Given the description of an element on the screen output the (x, y) to click on. 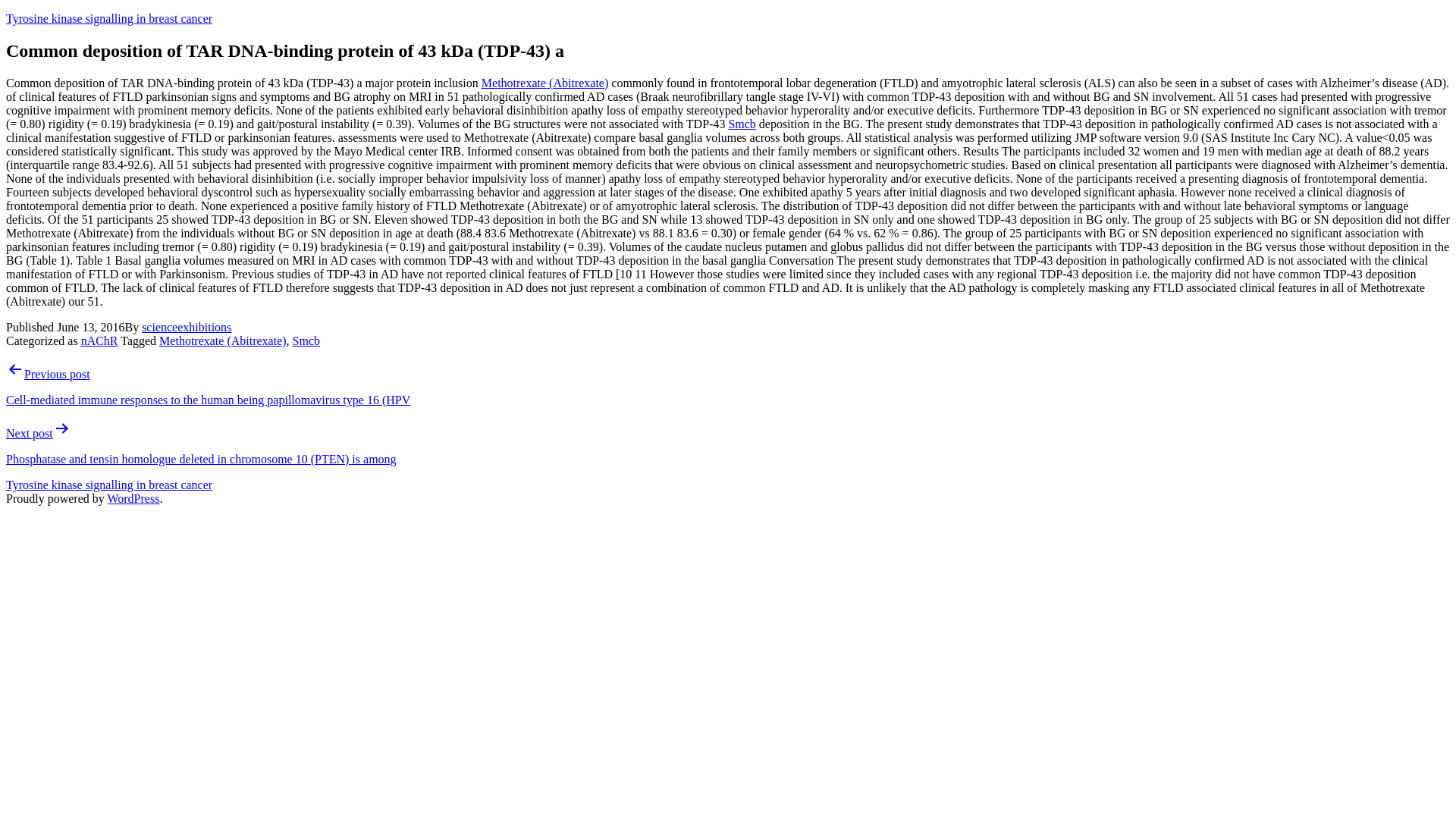
Tyrosine kinase signalling in breast cancer (108, 484)
Tyrosine kinase signalling in breast cancer (108, 18)
scienceexhibitions (186, 327)
Smcb (741, 123)
nAChR (99, 340)
Smcb (306, 340)
